Given the description of an element on the screen output the (x, y) to click on. 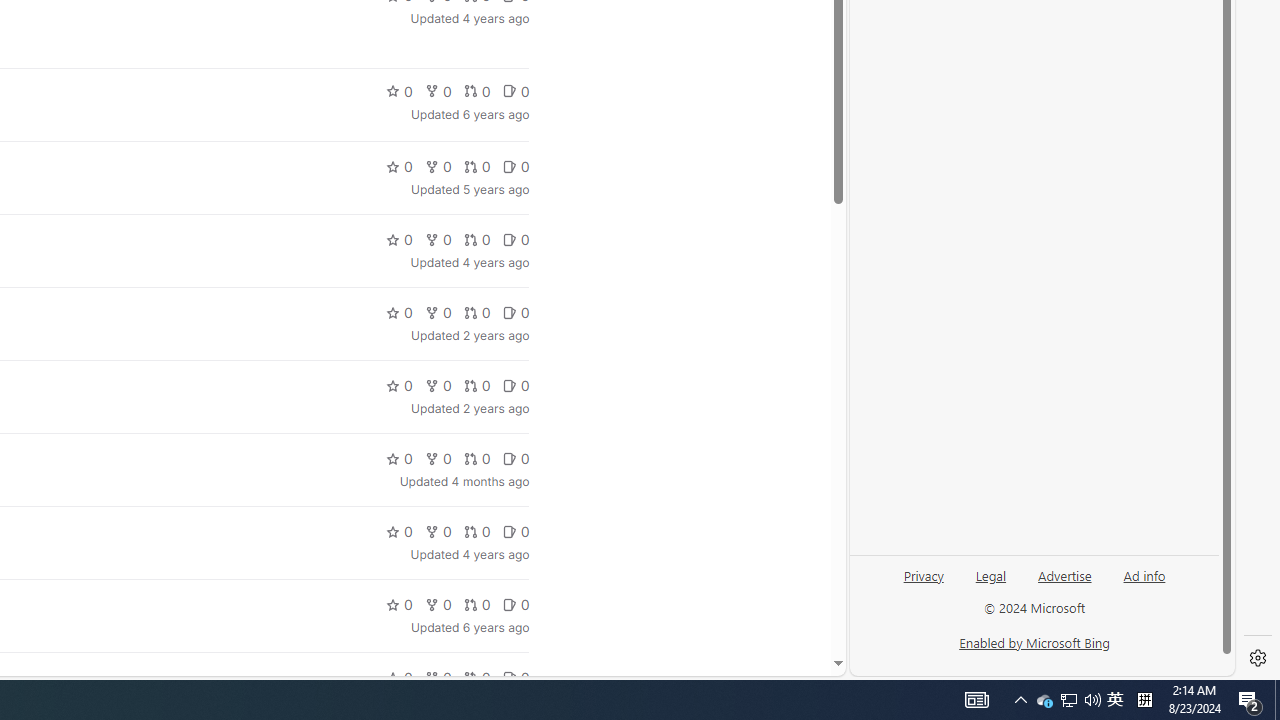
Ad info (1144, 583)
0 (515, 677)
Privacy (923, 583)
Advertise (1064, 574)
Ad info (1144, 574)
Legal (990, 583)
Class: s14 gl-mr-2 (509, 677)
Privacy (923, 574)
Advertise (1064, 583)
Legal (991, 574)
